Given the description of an element on the screen output the (x, y) to click on. 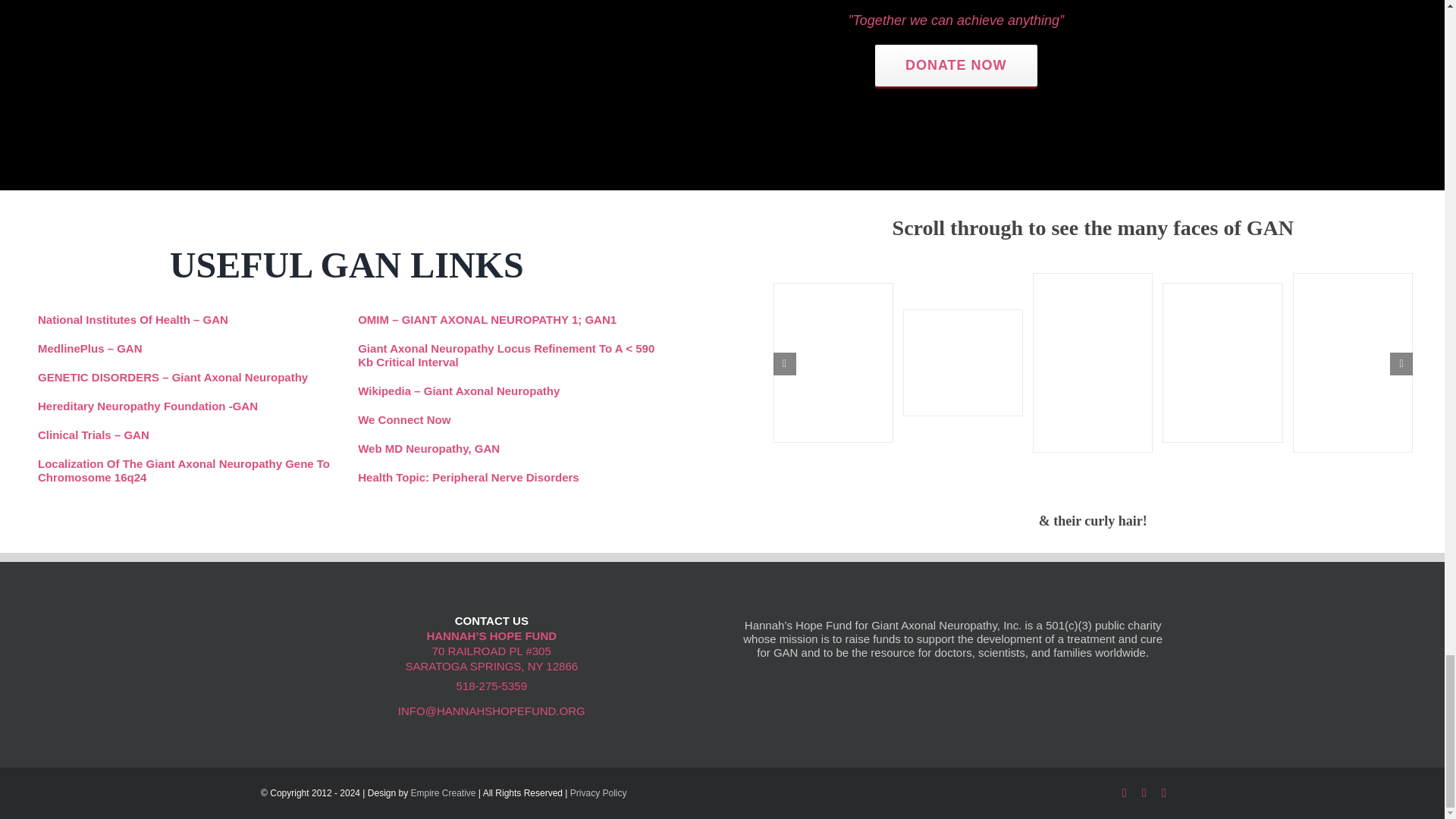
Empire Creative (443, 792)
Hereditary Neuropathy Foundation -GAN (147, 405)
We Connect Now (403, 419)
Privacy Policy (598, 792)
Vimeo video player 1 (240, 41)
Health Topic: Peripheral Nerve Disorders (468, 477)
DONATE NOW (955, 65)
Web MD Neuropathy, GAN (428, 448)
